Given the description of an element on the screen output the (x, y) to click on. 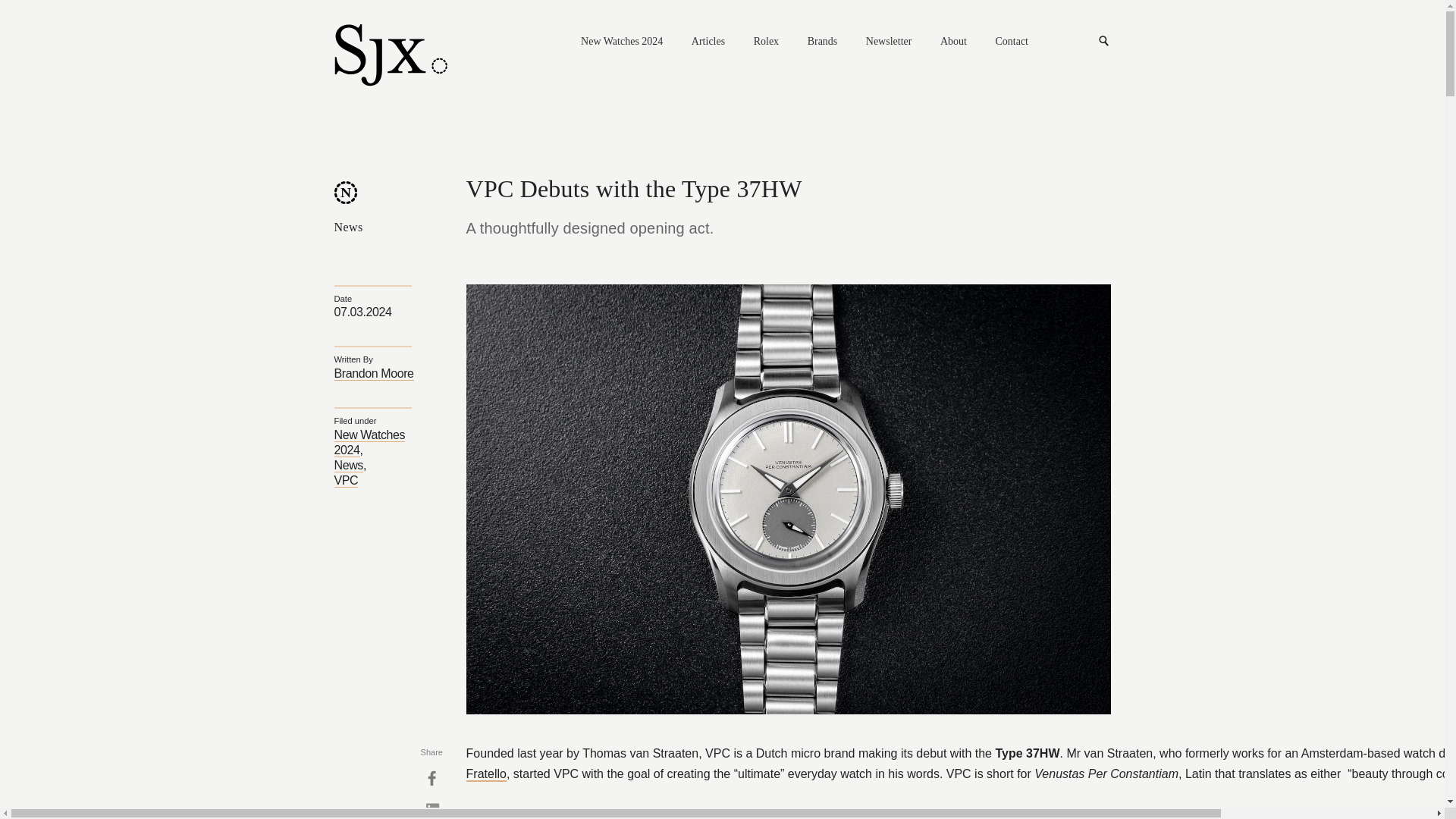
Rolex (766, 42)
Newsletter (889, 42)
Articles (708, 42)
New Watches 2024 (621, 42)
About (953, 42)
Posts by Brandon Moore (373, 373)
Contact (1010, 42)
Brands (823, 42)
Search (1103, 40)
